Given the description of an element on the screen output the (x, y) to click on. 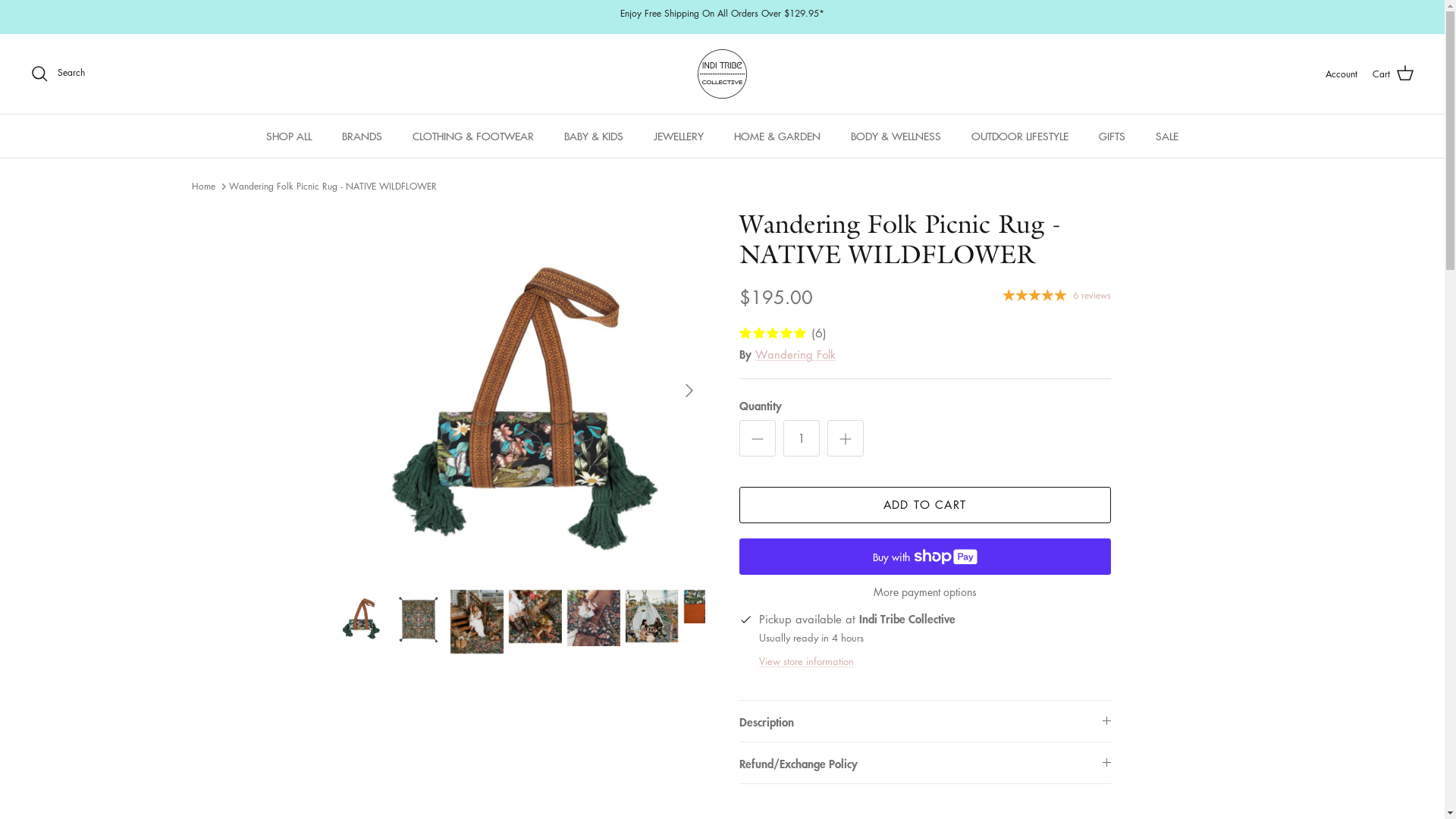
Plus Element type: text (844, 438)
SALE Element type: text (1167, 135)
Search Element type: text (57, 73)
CLOTHING & FOOTWEAR Element type: text (472, 135)
OUTDOOR LIFESTYLE Element type: text (1019, 135)
RIGHT Element type: text (688, 390)
Wandering Folk Element type: text (795, 353)
BODY & WELLNESS Element type: text (895, 135)
Home Element type: text (202, 185)
6 reviews Element type: text (1056, 294)
 (6) Element type: text (924, 334)
BABY & KIDS Element type: text (593, 135)
Account Element type: text (1341, 73)
ADD TO CART Element type: text (924, 504)
SHOP ALL Element type: text (288, 135)
JEWELLERY Element type: text (678, 135)
Minus Element type: text (756, 438)
Wandering Folk Picnic Rug - NATIVE WILDFLOWER Element type: text (332, 185)
View store information Element type: text (805, 660)
BRANDS Element type: text (361, 135)
HOME & GARDEN Element type: text (777, 135)
Cart Element type: text (1393, 73)
More payment options Element type: text (924, 591)
Indi Tribe Collective Element type: hover (721, 73)
GIFTS Element type: text (1112, 135)
